Given the description of an element on the screen output the (x, y) to click on. 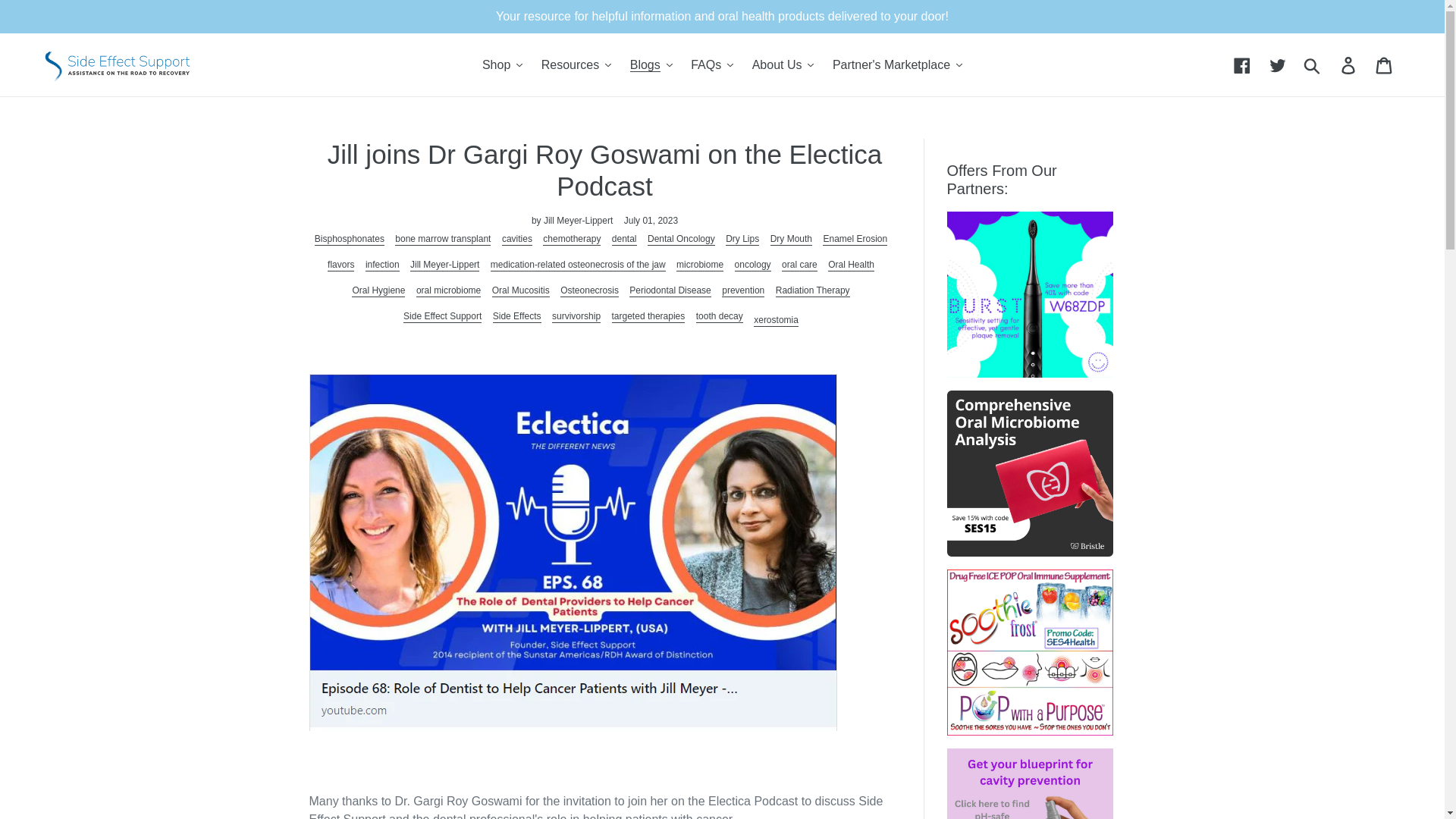
Submit (1313, 64)
Twitter (1278, 64)
Facebook (1242, 64)
Log in (1349, 64)
